Given the description of an element on the screen output the (x, y) to click on. 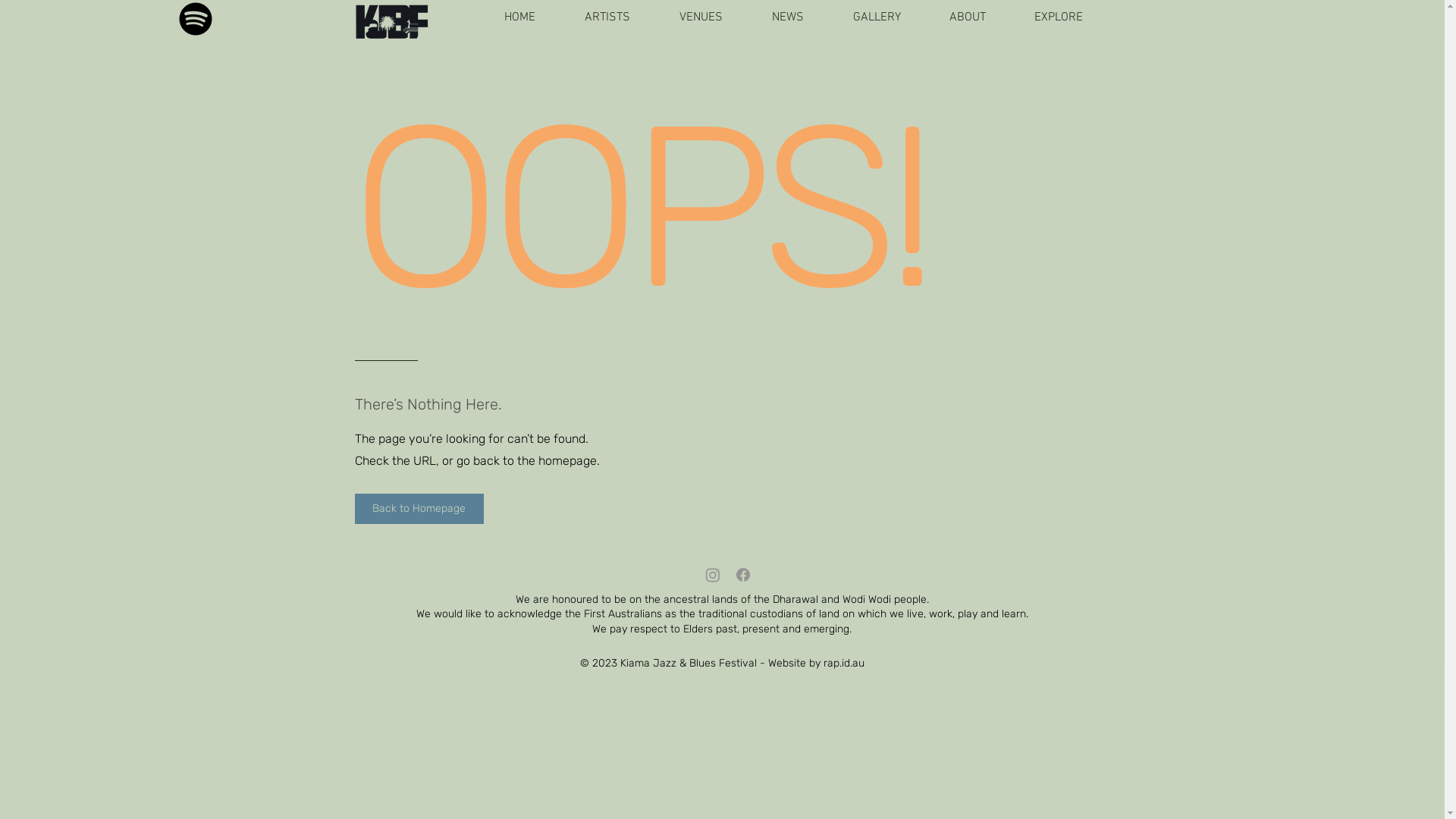
EXPLORE Element type: text (1044, 17)
GALLERY Element type: text (862, 17)
ARTISTS Element type: text (593, 17)
Back to Homepage Element type: text (418, 508)
NEWS Element type: text (774, 17)
VENUES Element type: text (687, 17)
ABOUT Element type: text (953, 17)
Kiama Jazz & Blues 2023 Playlist Element type: hover (194, 18)
HOME Element type: text (505, 17)
